Given the description of an element on the screen output the (x, y) to click on. 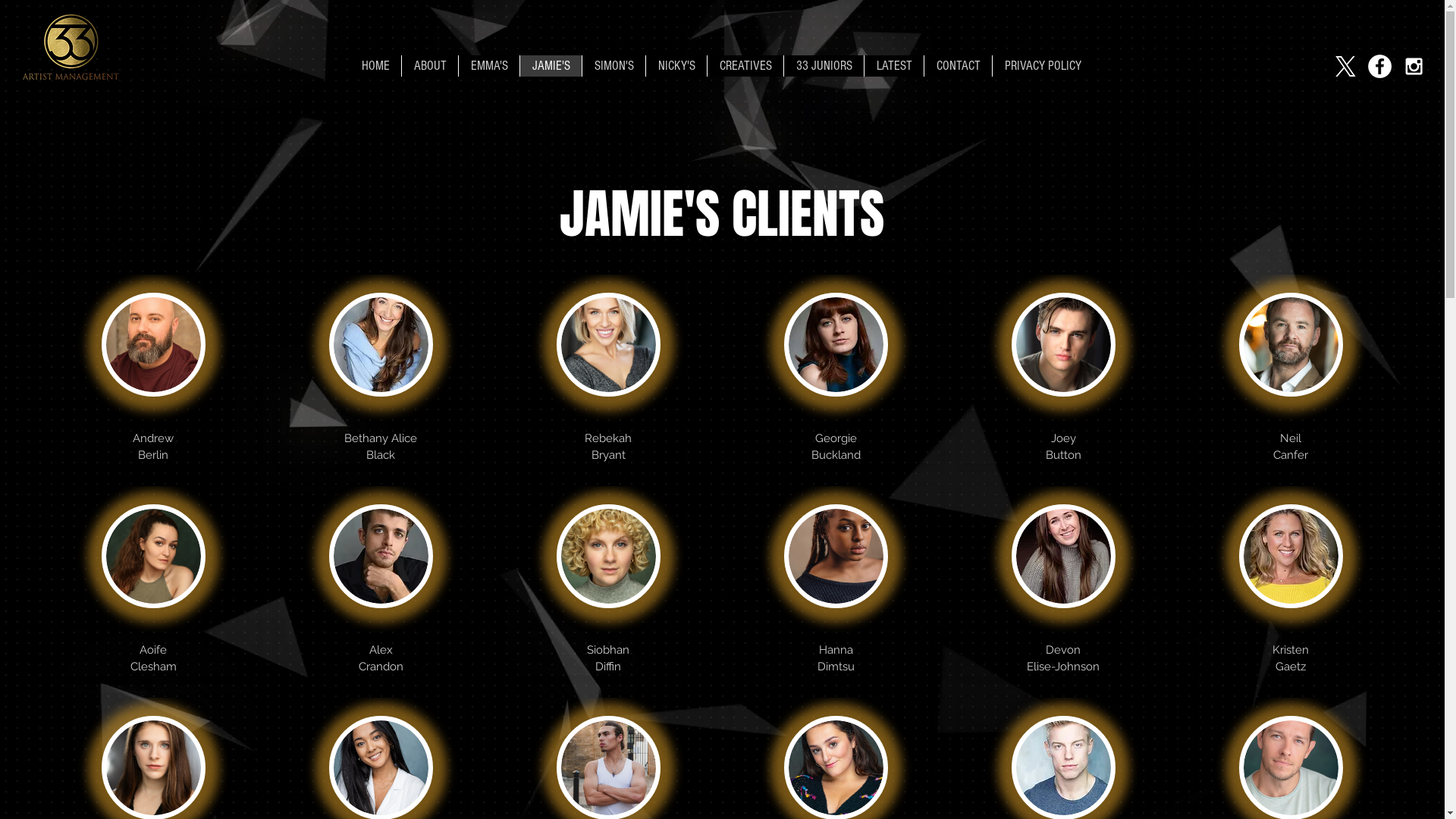
yb8z64js95.jpg Element type: hover (381, 344)
CONTACT Element type: text (957, 65)
08549d5a-32bf-4050-99d5-5c8fa4f7e31c.jpeg Element type: hover (381, 556)
km6tcvz8b0.jpg Element type: hover (1063, 556)
LATEST Element type: text (893, 65)
fb07691e-abb6-4942-b779-fbbb13eb4810.jpeg Element type: hover (836, 344)
ABOUT Element type: text (429, 65)
JAMIE'S Element type: text (550, 65)
33 JUNIORS Element type: text (823, 65)
EMMA'S Element type: text (488, 65)
NICKY'S Element type: text (675, 65)
CREATIVES Element type: text (744, 65)
23a3460f-4f04-41e4-a463-f3d636d52e90.jpeg Element type: hover (1291, 556)
HOME Element type: text (375, 65)
SIMON'S Element type: text (613, 65)
PRIVACY POLICY Element type: text (1041, 65)
